Given the description of an element on the screen output the (x, y) to click on. 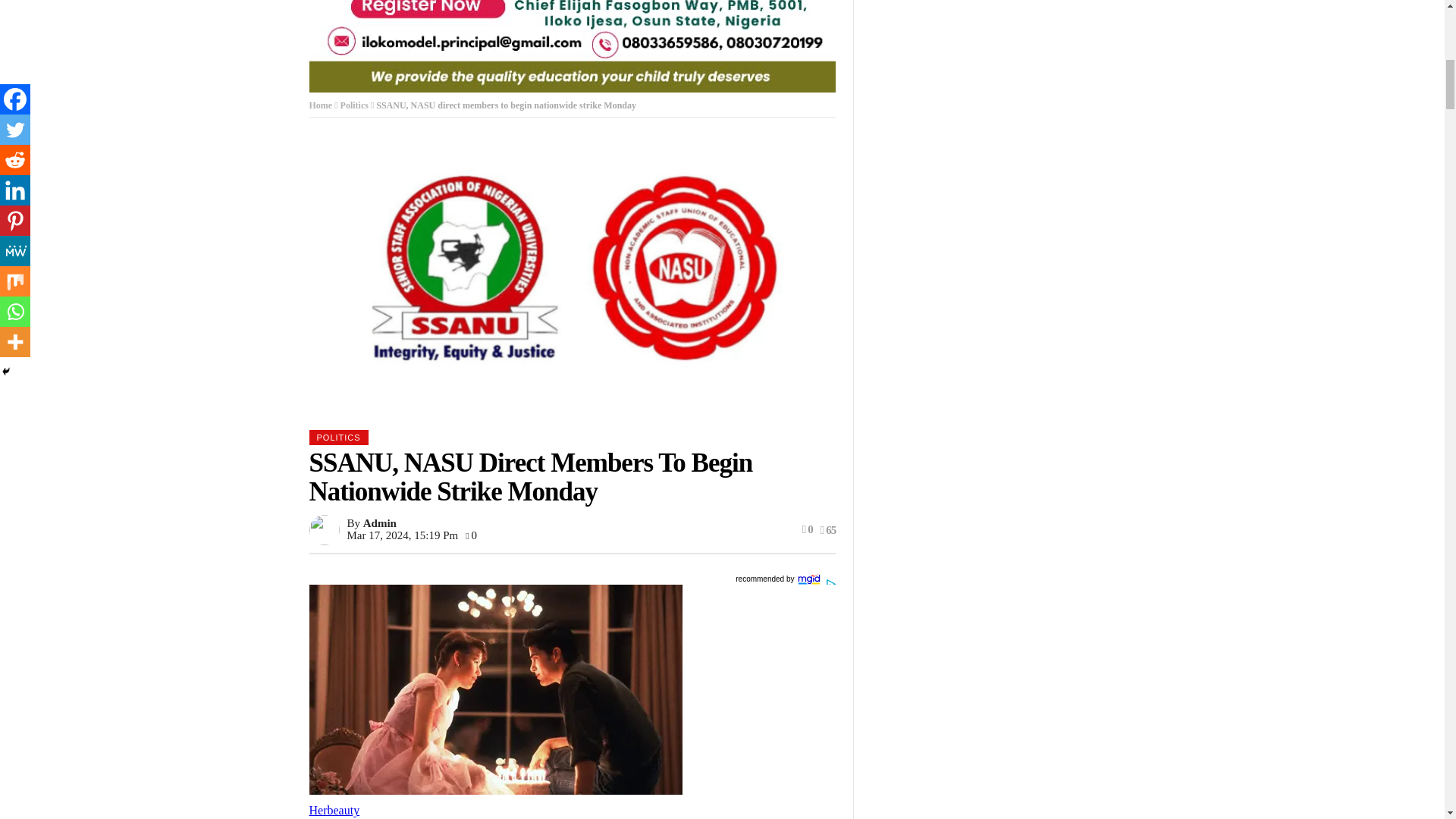
0 (807, 529)
Like (807, 529)
Admin (379, 522)
Home (320, 104)
0 (471, 535)
POLITICS (338, 437)
Politics (354, 104)
Posts by admin (379, 522)
